Given the description of an element on the screen output the (x, y) to click on. 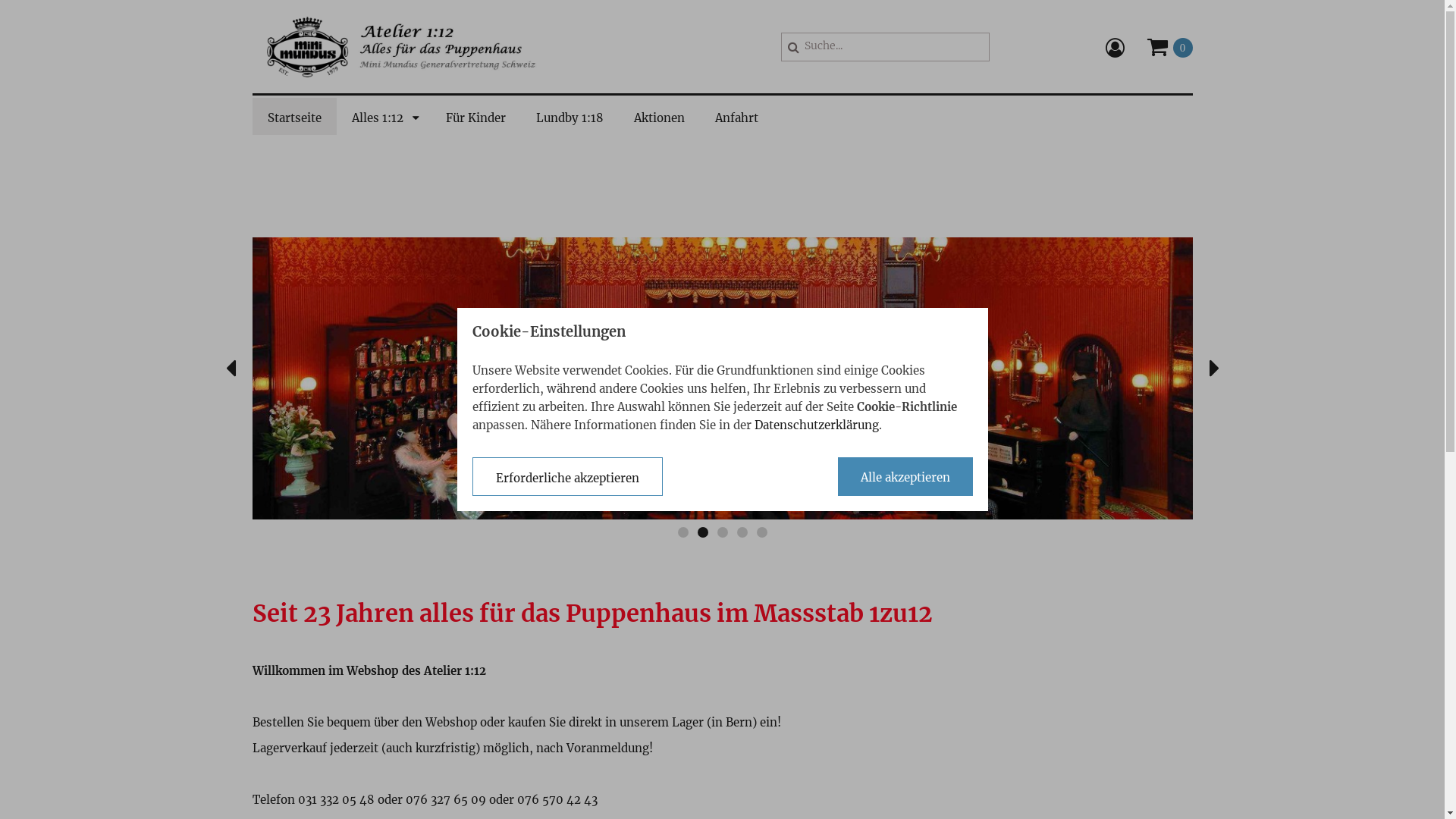
Alle akzeptieren Element type: text (904, 476)
Aktionen Element type: text (658, 117)
Erforderliche akzeptieren Element type: text (566, 476)
Atelier 1:12 Element type: hover (408, 46)
Alles 1:12 Element type: text (383, 117)
Anfahrt Element type: text (735, 117)
Suche Element type: text (793, 45)
Warenkorb anzeigen. Sie haben 0 Artikel im Warenkorb.
0 Element type: text (1169, 46)
Lundby 1:18 Element type: text (569, 117)
Startseite Element type: text (293, 117)
